Given the description of an element on the screen output the (x, y) to click on. 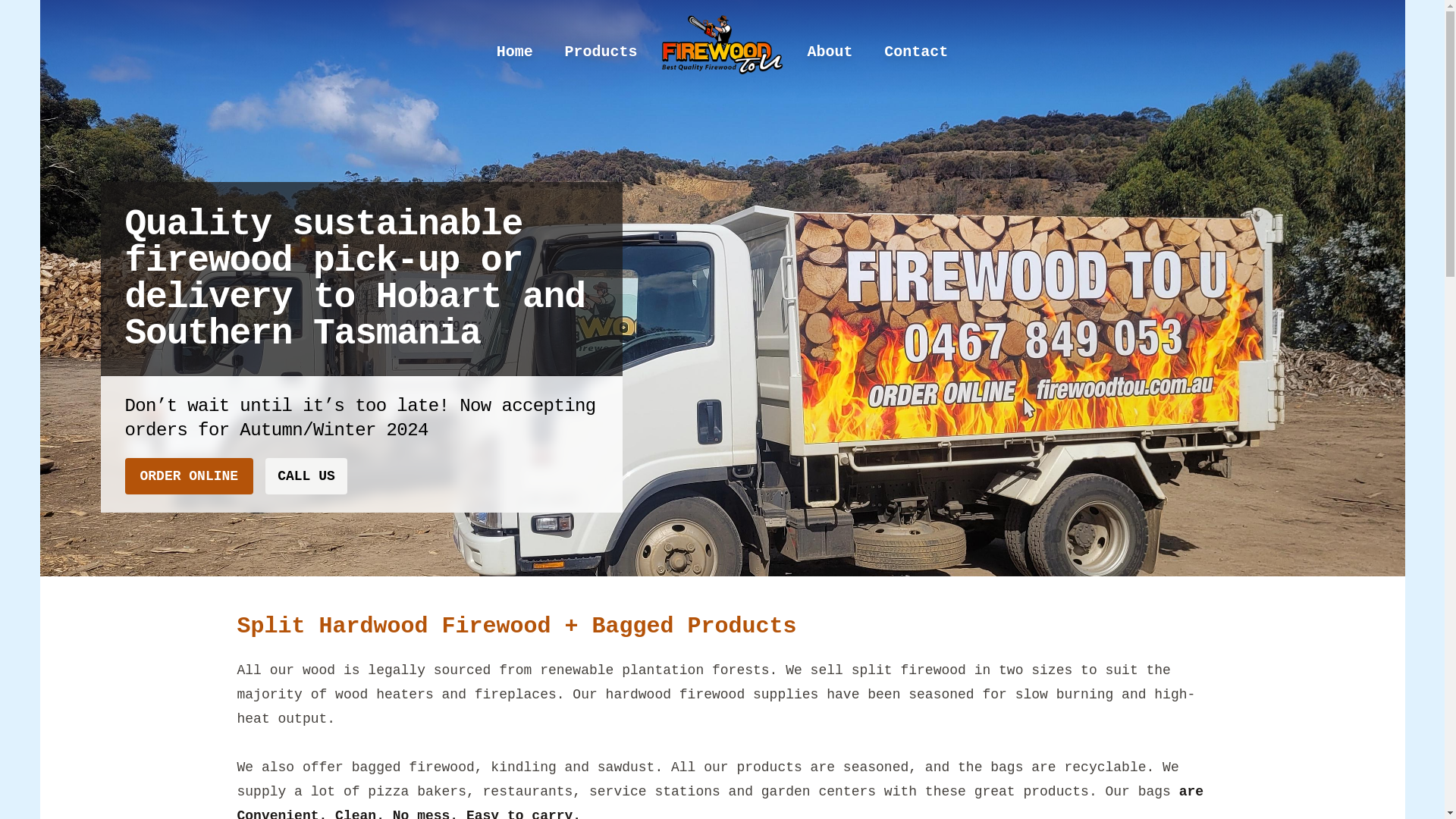
ORDER ONLINE Element type: text (188, 476)
CALL US Element type: text (306, 476)
Products Element type: text (600, 51)
Contact Element type: text (915, 51)
Home Element type: text (514, 51)
About Element type: text (829, 51)
